Given the description of an element on the screen output the (x, y) to click on. 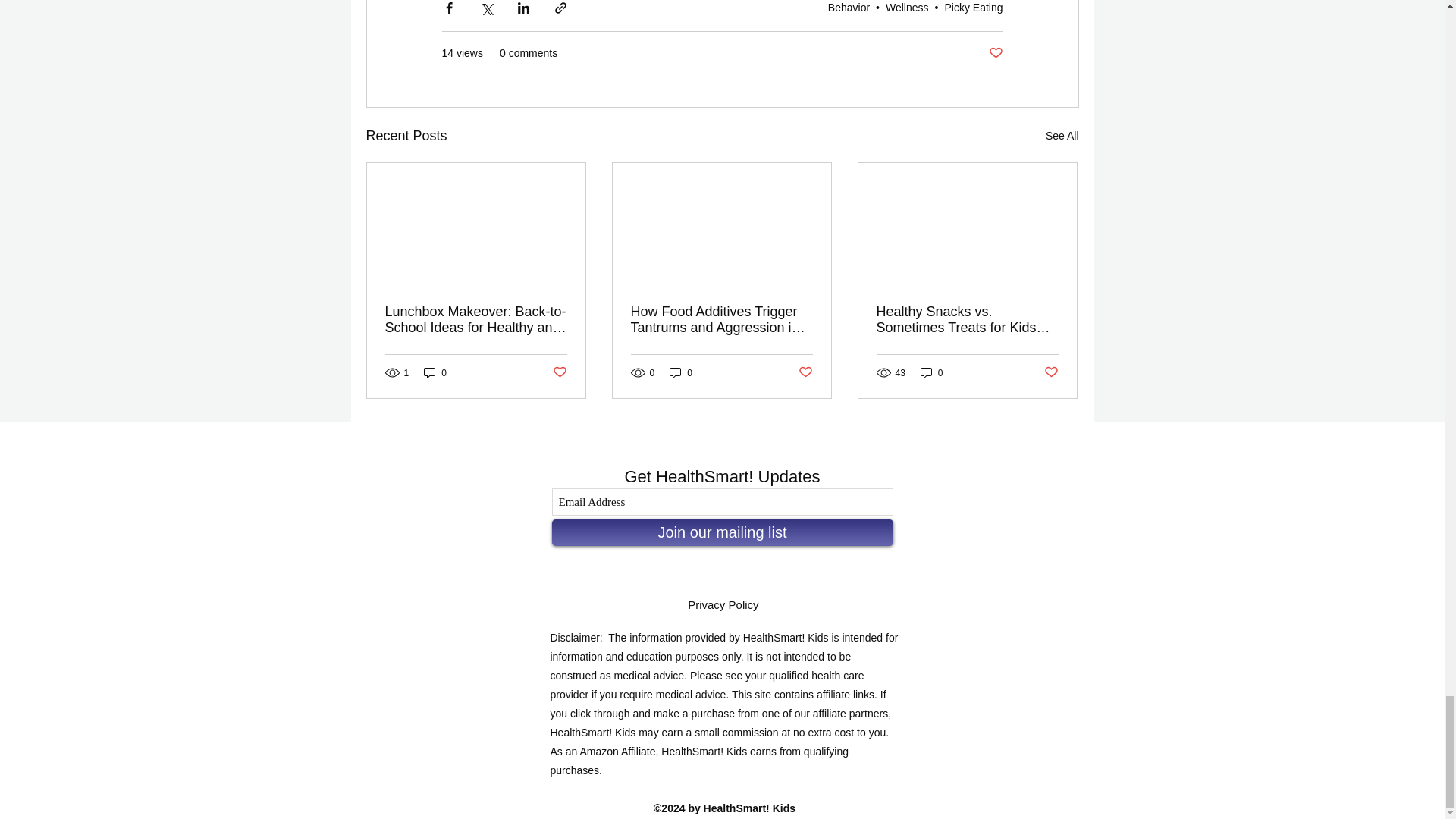
Post not marked as liked (558, 372)
0 (681, 372)
0 (435, 372)
Behavior (848, 7)
Wellness (906, 7)
Post not marked as liked (995, 53)
See All (1061, 136)
Post not marked as liked (804, 372)
Picky Eating (973, 7)
